Given the description of an element on the screen output the (x, y) to click on. 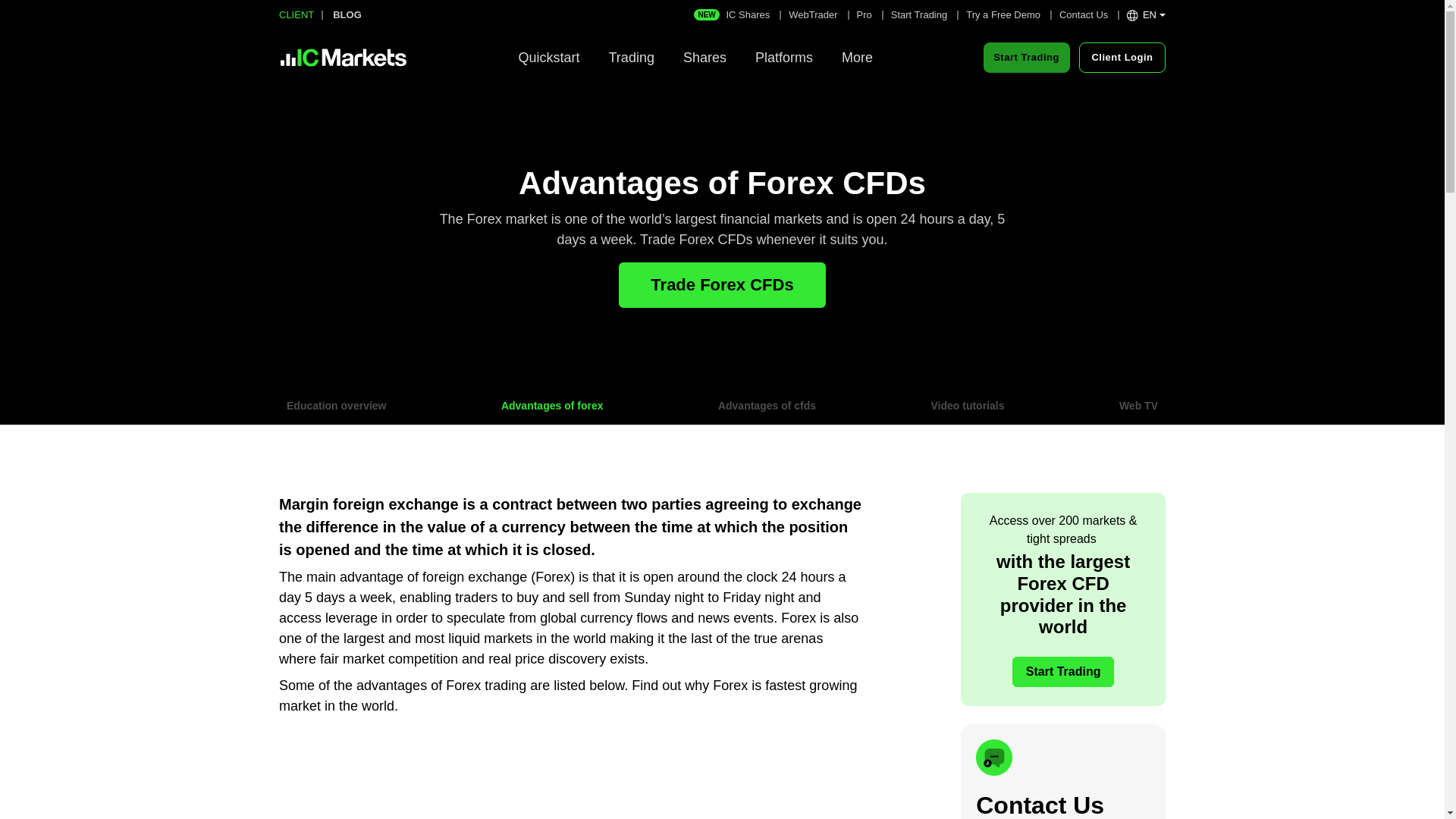
Pro (864, 14)
Start Trading (919, 14)
EN (1146, 14)
CLIENT (296, 14)
Contact Us (1083, 14)
WebTrader (813, 14)
Quickstart (548, 57)
BLOG (695, 57)
Try a Free Demo (347, 14)
